Given the description of an element on the screen output the (x, y) to click on. 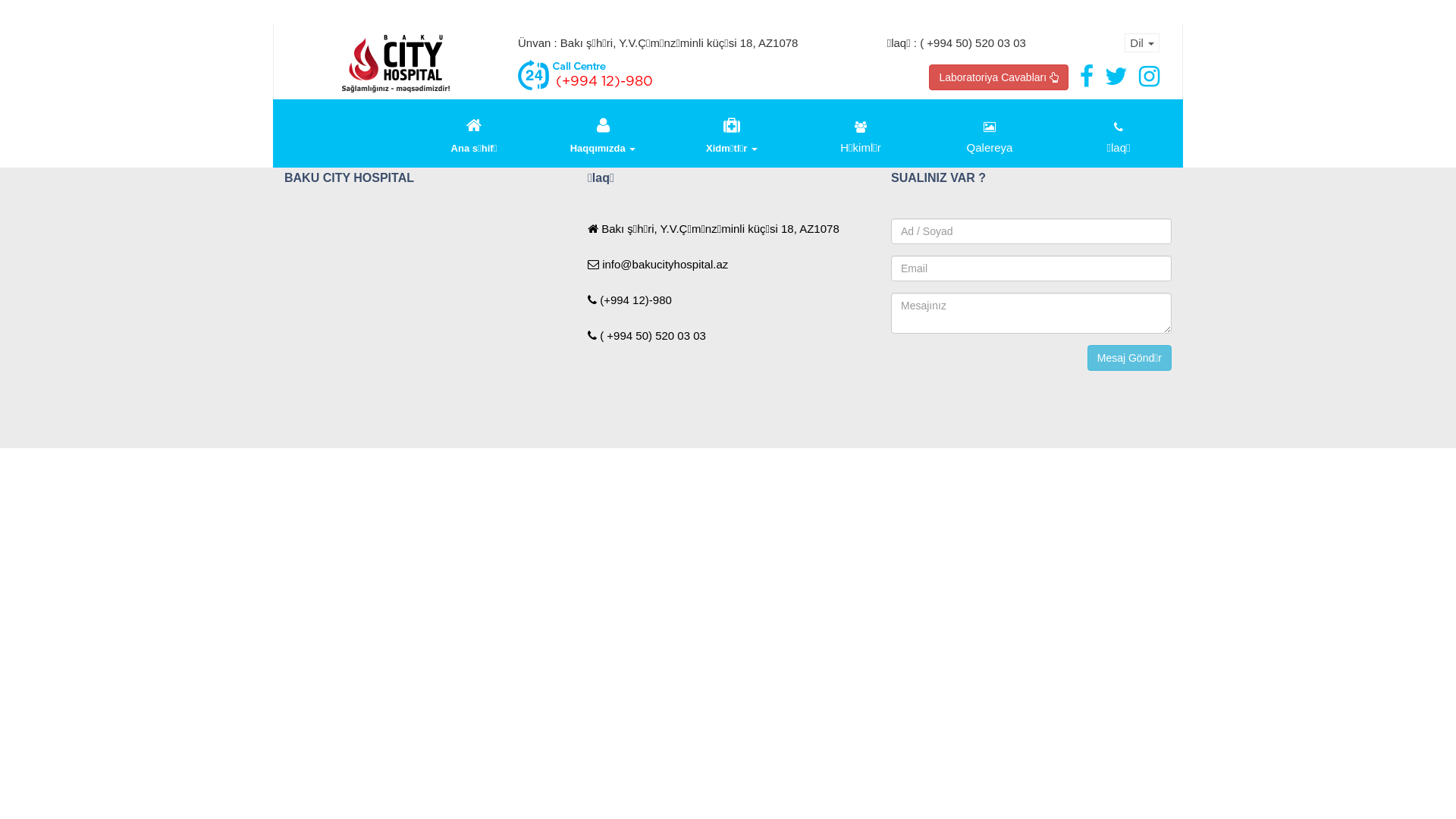
( +994 50) 520 03 03 Element type: text (646, 335)
Dil Element type: text (1141, 42)
info@bakucityhospital.az Element type: text (657, 263)
(+994 12)-980 Element type: text (629, 299)
